Given the description of an element on the screen output the (x, y) to click on. 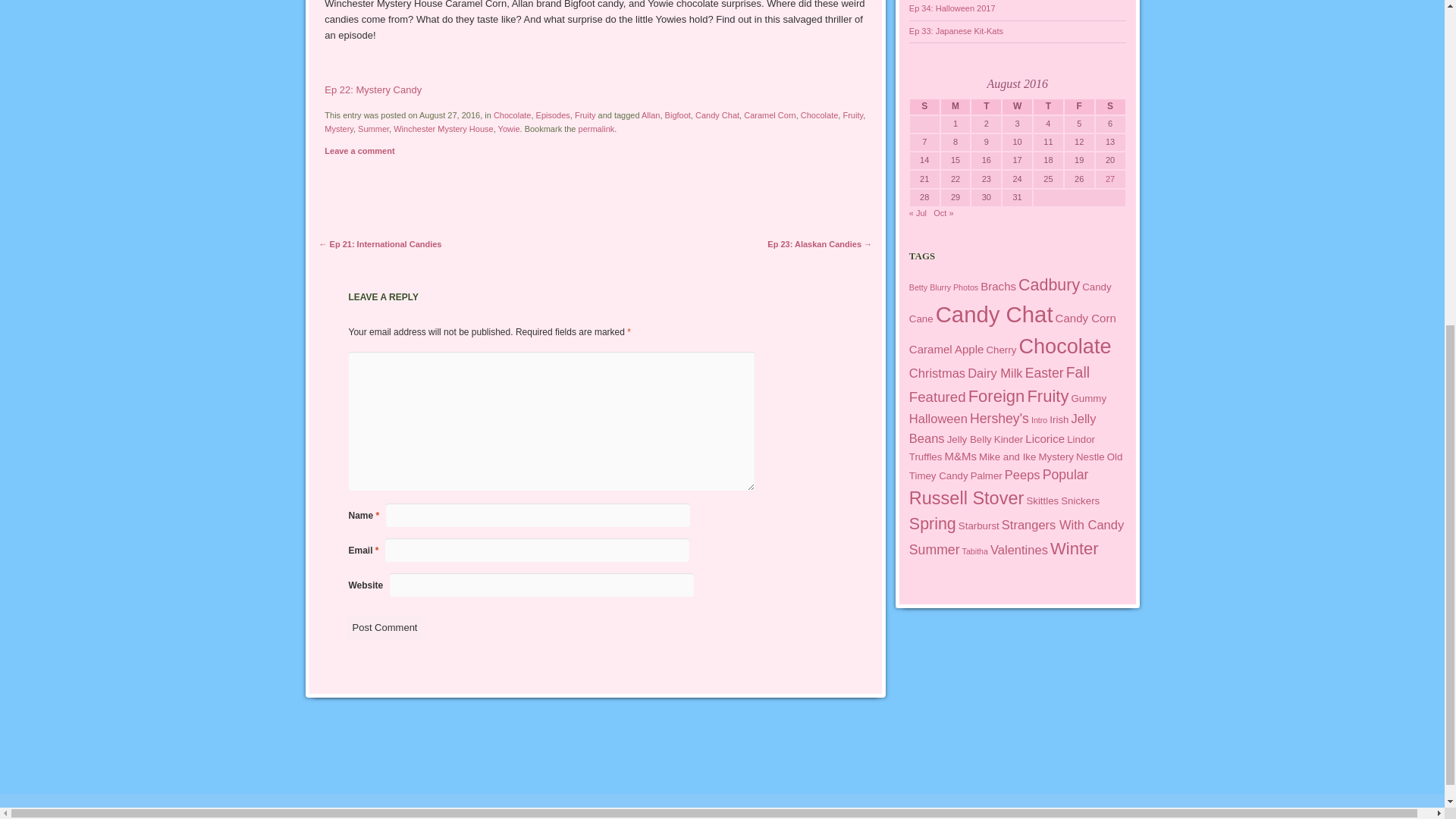
Mystery (338, 128)
Yowie (508, 128)
Winchester Mystery House (443, 128)
Fruity (585, 114)
Allan (650, 114)
Sunday (924, 106)
Chocolate (819, 114)
Ep 33: Japanese Kit-Kats (955, 31)
Ep 22: Mystery Candy (373, 89)
Ep 34: Halloween 2017 (951, 8)
